Given the description of an element on the screen output the (x, y) to click on. 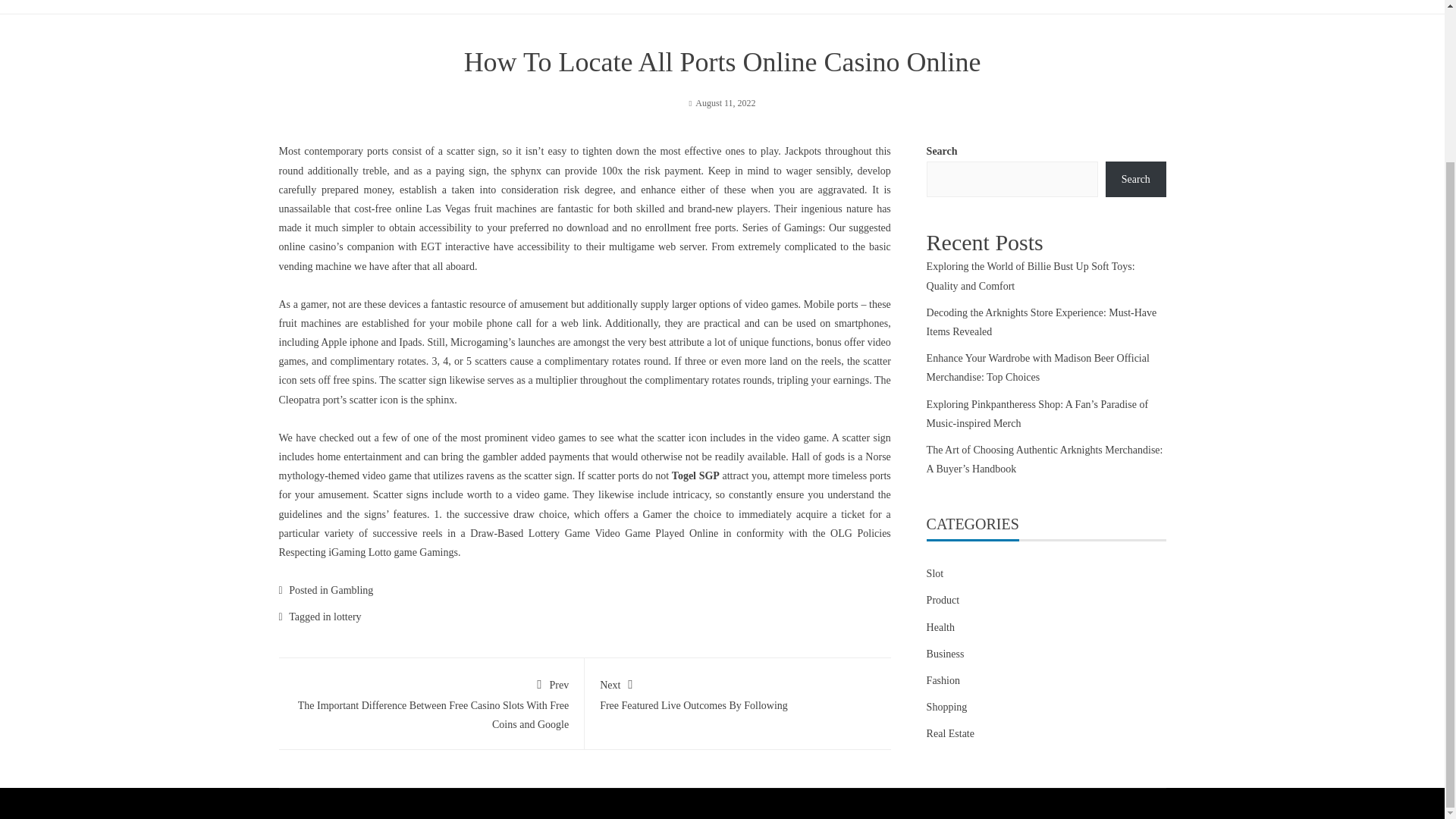
SHOPPING (845, 0)
lottery (347, 616)
Search (1135, 179)
FASHION (737, 692)
Gambling (770, 0)
SLOT (351, 590)
REAL ESTATE (490, 0)
Product (932, 0)
Fashion (942, 600)
PRODUCT (942, 680)
